Given the description of an element on the screen output the (x, y) to click on. 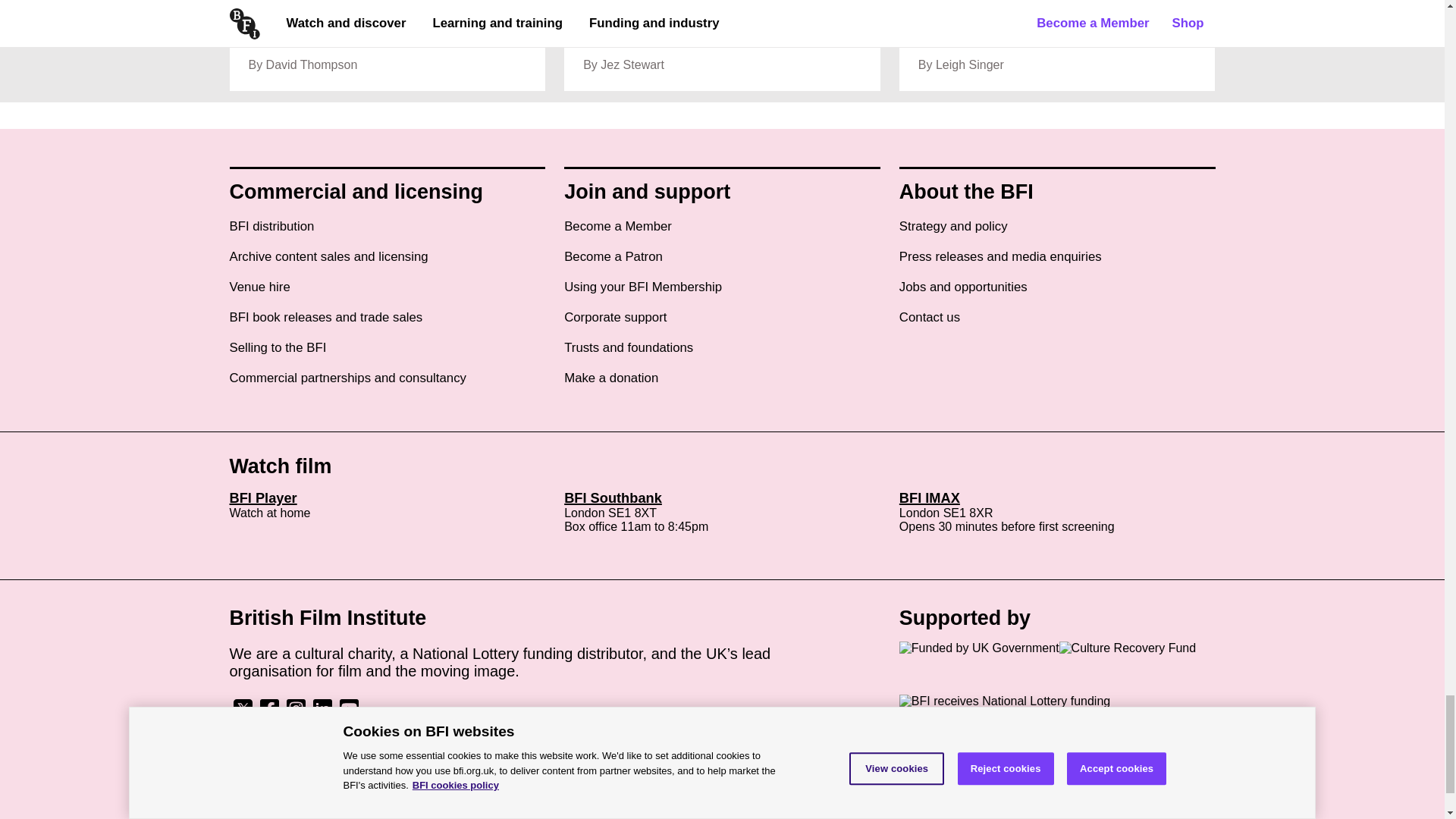
LinkedIn (322, 708)
Read From the archive: can Spider-Man do the comics justice? (386, 45)
Read Stop motion shorts: 7 of the best on BFI Player (722, 45)
YouTube (347, 708)
Become a Patron (613, 256)
Join and support (647, 191)
Selling to the BFI (277, 347)
Venue hire (258, 287)
Become a Member (617, 226)
View our YouTube (347, 714)
